Given the description of an element on the screen output the (x, y) to click on. 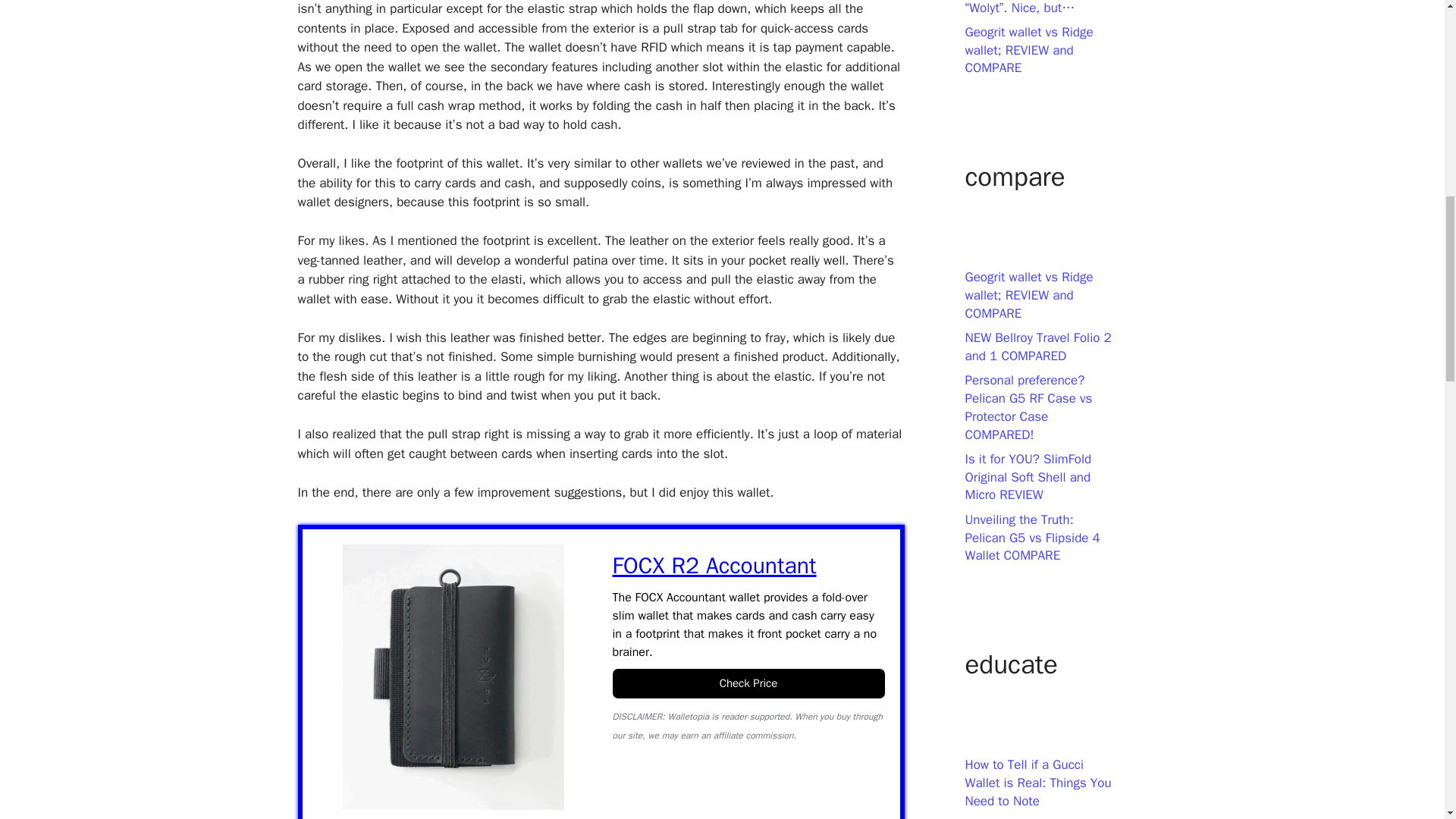
Geogrit wallet vs Ridge wallet; REVIEW and COMPARE (1028, 50)
FOCX R2 Accountant (453, 681)
Check Price (748, 683)
FOCX R2 Accountant (748, 566)
Geogrit wallet vs Ridge wallet; REVIEW and COMPARE (1028, 295)
Unveiling the Truth: Pelican G5 vs Flipside 4 Wallet COMPARE (1031, 537)
NEW Bellroy Travel Folio 2 and 1 COMPARED (1036, 346)
FOCX R2 Accountant (748, 566)
How to Wear Wallet Chain in Different Ways (1036, 818)
